Given the description of an element on the screen output the (x, y) to click on. 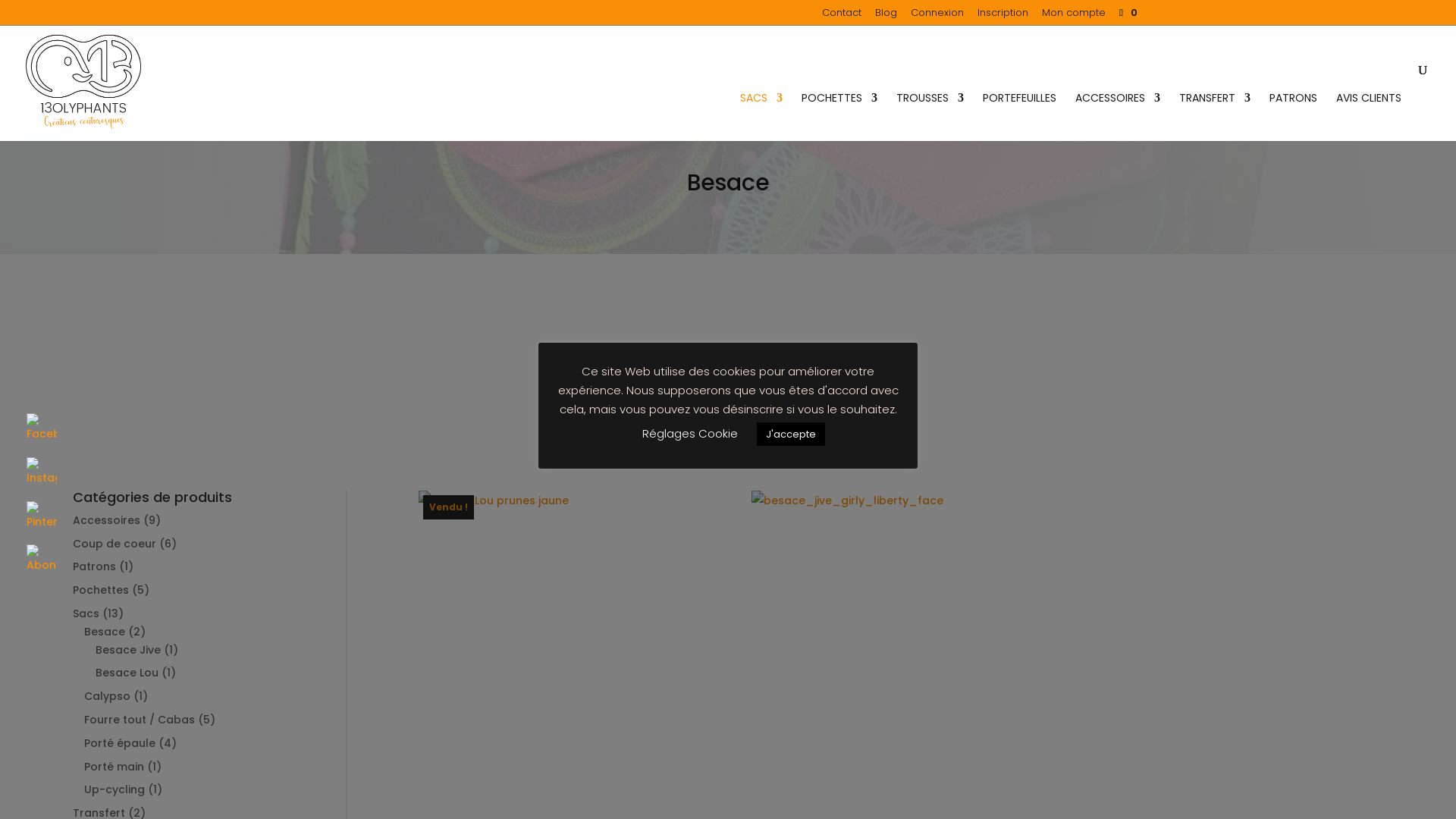
PATRONS Element type: text (1293, 116)
J'accepte Element type: text (790, 433)
Facebook Element type: hover (41, 428)
Up-cycling Element type: text (114, 789)
AVIS CLIENTS Element type: text (1368, 116)
Calypso Element type: text (107, 695)
Mon compte Element type: text (1073, 16)
Besace Jive Element type: text (127, 649)
Coup de coeur Element type: text (114, 543)
Instagram Element type: hover (41, 472)
Abonnement Element type: hover (41, 559)
Patrons Element type: text (94, 566)
0 Element type: text (1121, 12)
Fourre tout / Cabas Element type: text (139, 719)
SACS Element type: text (761, 116)
Pinterest Element type: hover (41, 516)
Besace Element type: text (104, 631)
Sacs Element type: text (85, 613)
TRANSFERT Element type: text (1214, 116)
Besace Lou Element type: text (126, 672)
PORTEFEUILLES Element type: text (1019, 116)
POCHETTES Element type: text (839, 116)
Inscription Element type: text (1002, 16)
Accessoires Element type: text (106, 519)
Connexion Element type: text (936, 16)
Blog Element type: text (886, 16)
ACCESSOIRES Element type: text (1117, 116)
TROUSSES Element type: text (929, 116)
Contact Element type: text (841, 16)
Pochettes Element type: text (100, 589)
